Given the description of an element on the screen output the (x, y) to click on. 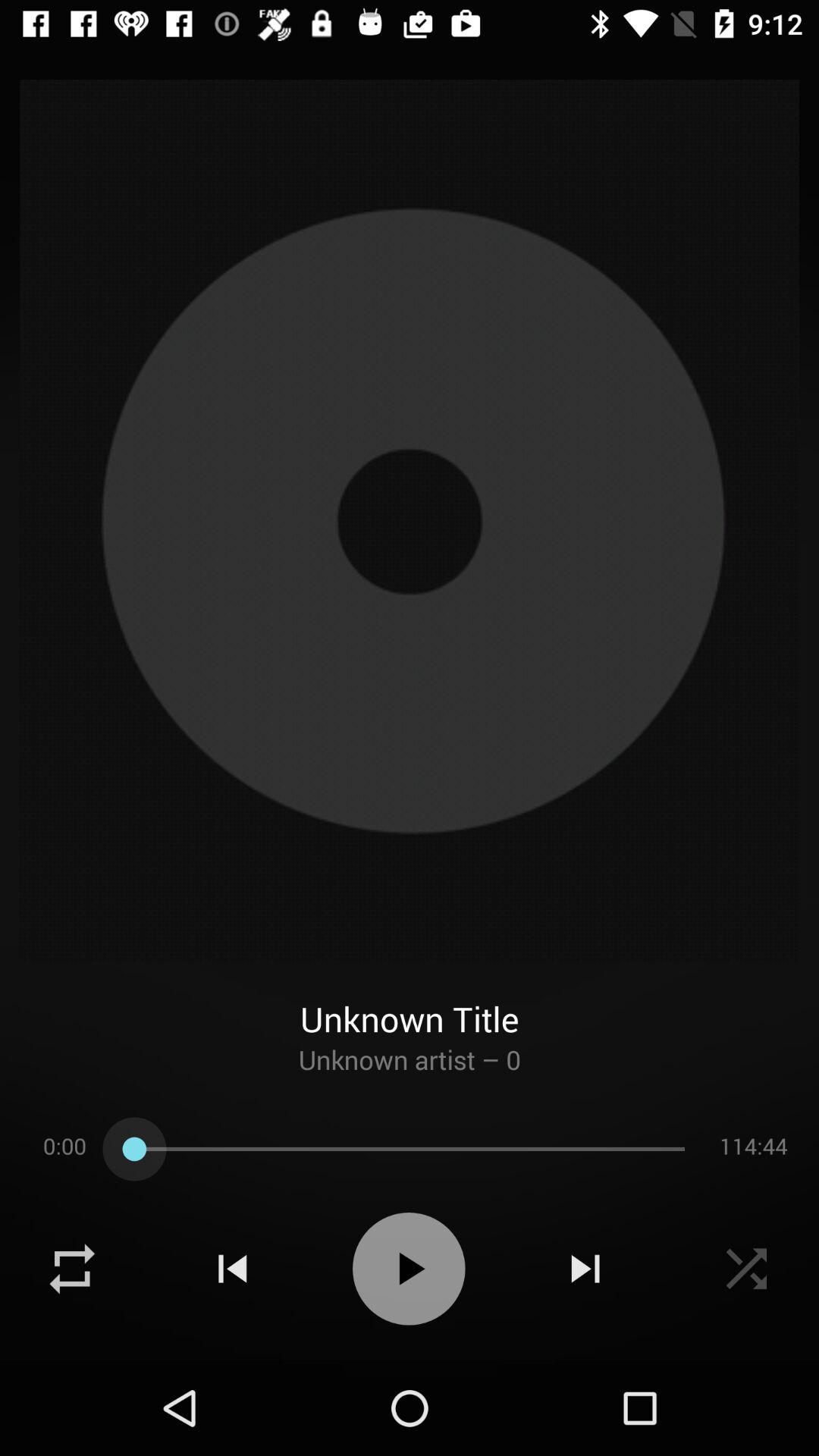
click on the shuffle symbol (72, 1268)
